Given the description of an element on the screen output the (x, y) to click on. 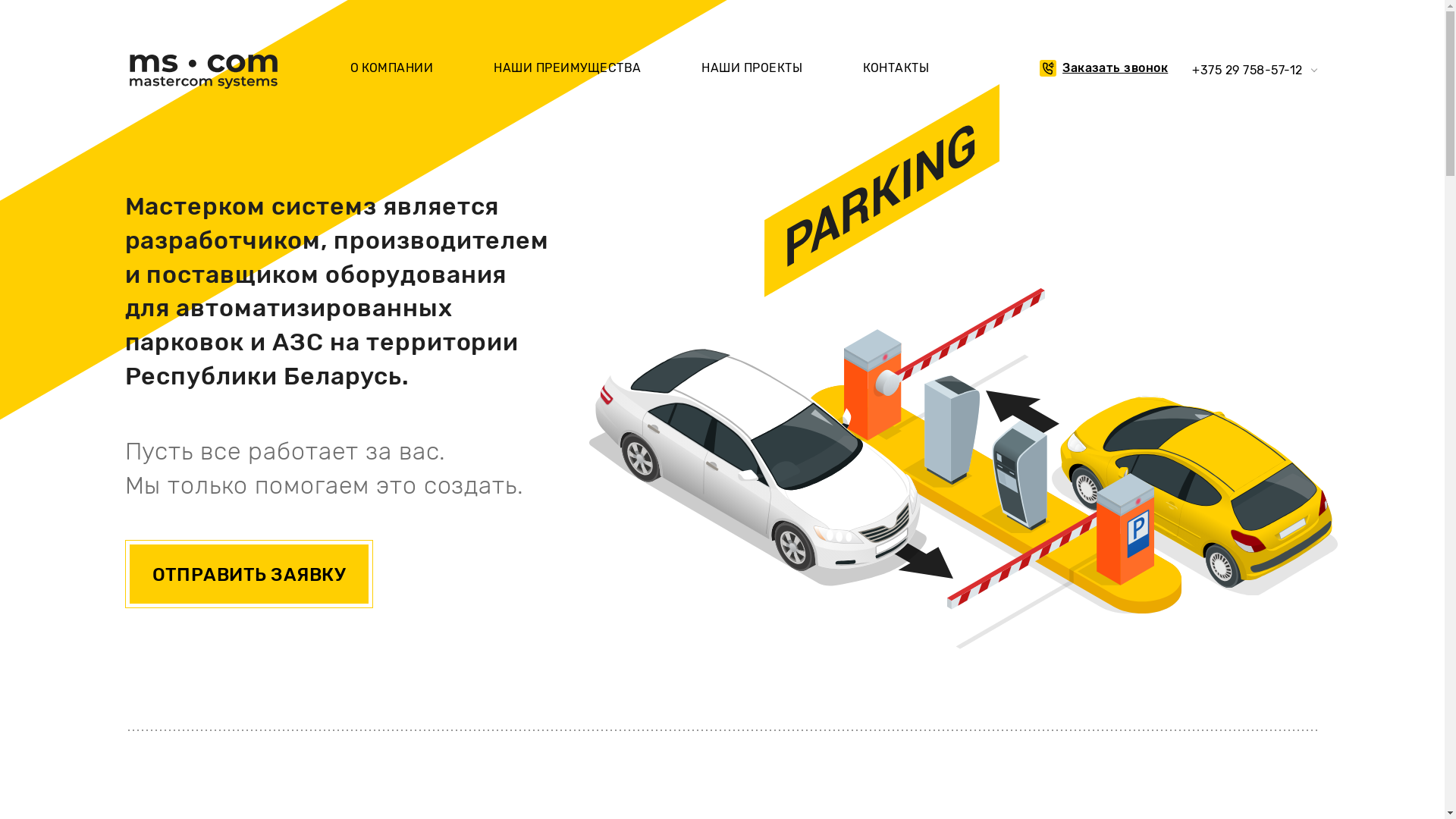
+375 29 758-57-12 Element type: text (1247, 69)
